Given the description of an element on the screen output the (x, y) to click on. 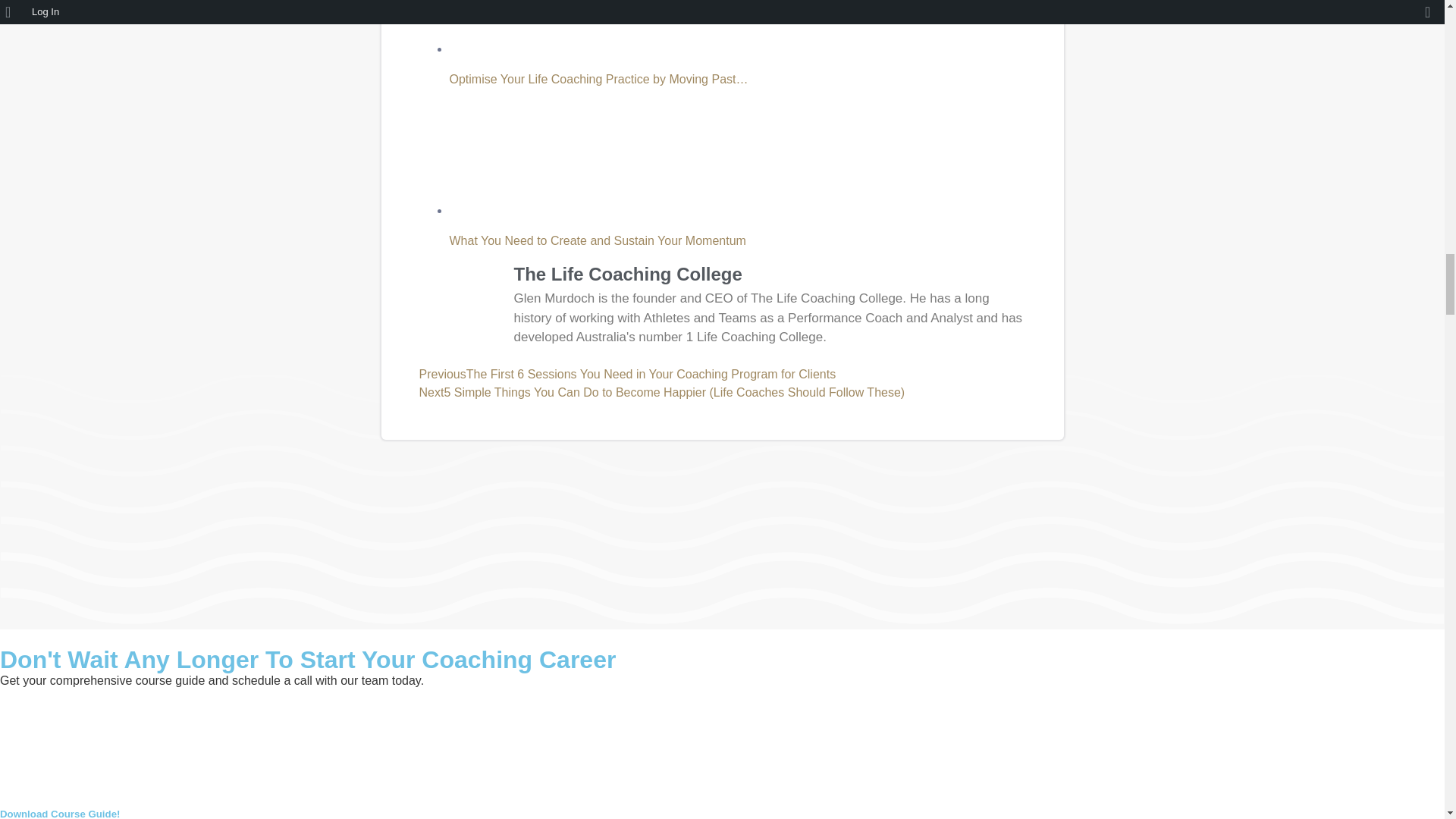
What You Need to Create and Sustain Your Momentum (535, 157)
